Given the description of an element on the screen output the (x, y) to click on. 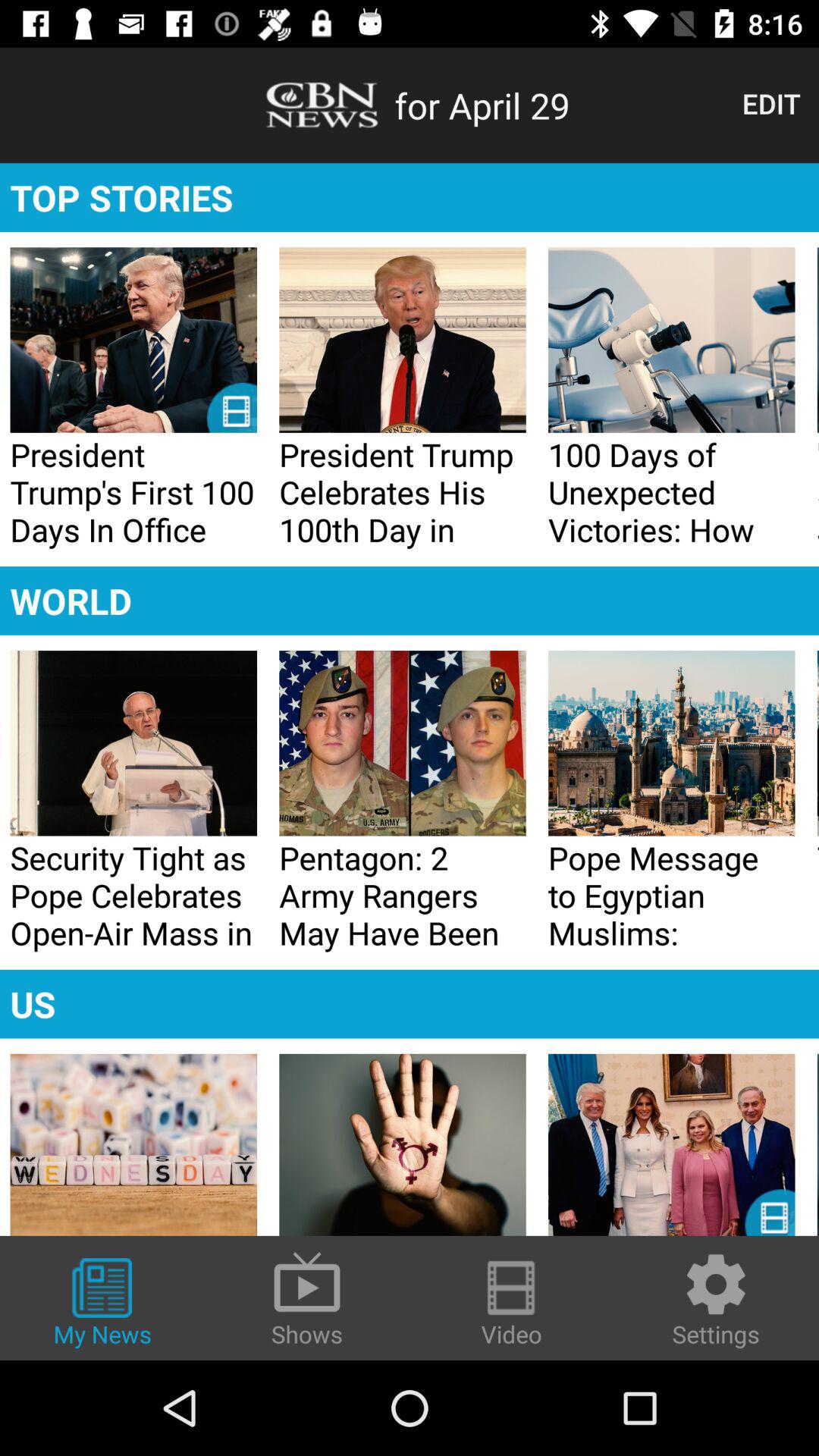
launch the top stories (409, 197)
